Given the description of an element on the screen output the (x, y) to click on. 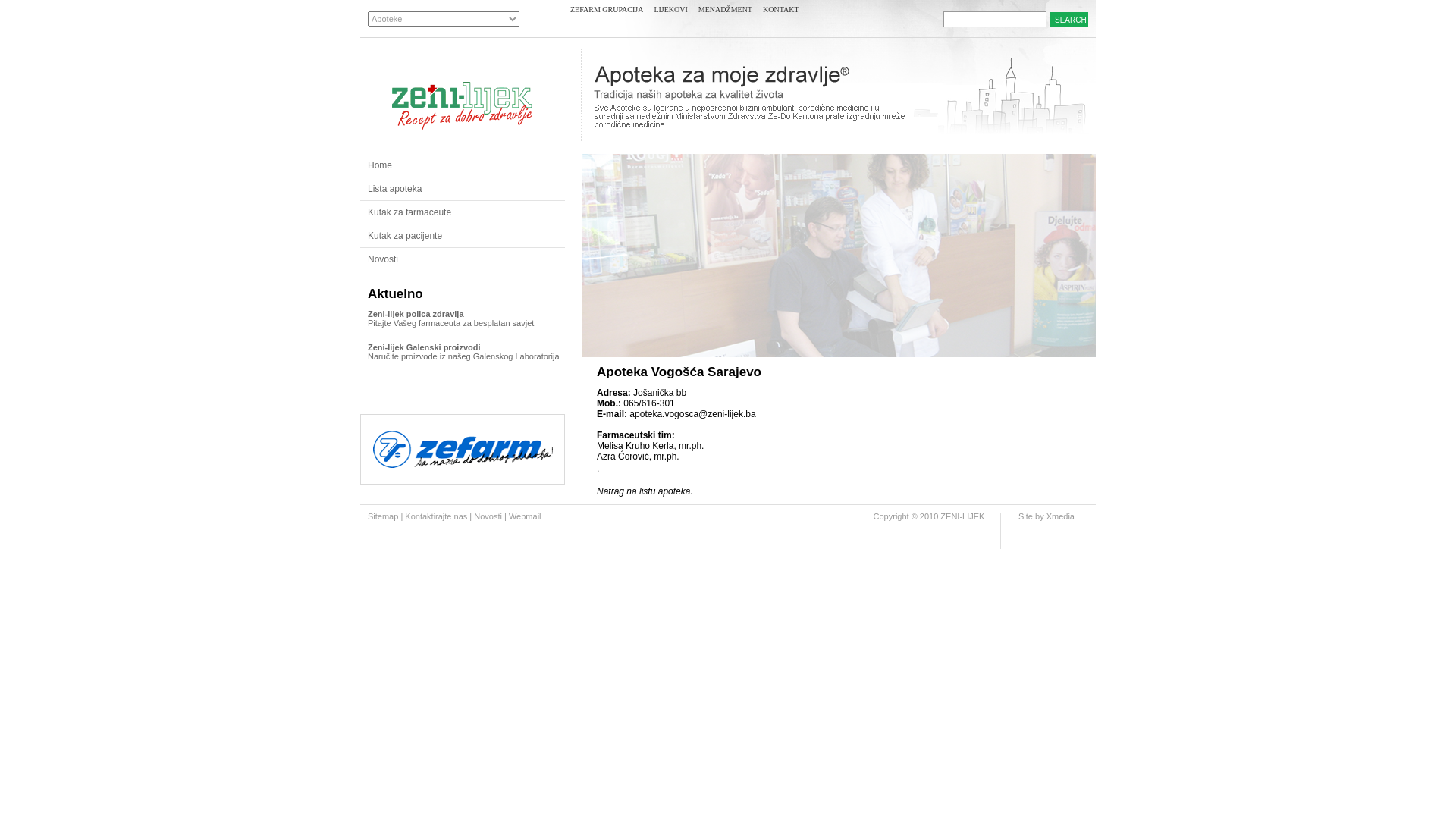
Novosti Element type: text (462, 259)
Kontaktirajte nas Element type: text (435, 515)
Sitemap Element type: text (382, 515)
Novosti Element type: text (487, 515)
Lista apoteka Element type: text (462, 188)
Kutak za farmaceute Element type: text (462, 212)
Home Element type: text (462, 165)
ZEFARM GRUPACIJA Element type: text (606, 14)
Xmedia Element type: text (1060, 515)
apoteka.vogosca@zeni-lijek.ba Element type: text (692, 413)
Webmail Element type: text (523, 515)
KONTAKT Element type: text (780, 14)
Kutak za pacijente Element type: text (462, 235)
LIJEKOVI Element type: text (670, 14)
SEARCH Element type: text (1069, 19)
Natrag na listu apoteka. Element type: text (644, 491)
